Given the description of an element on the screen output the (x, y) to click on. 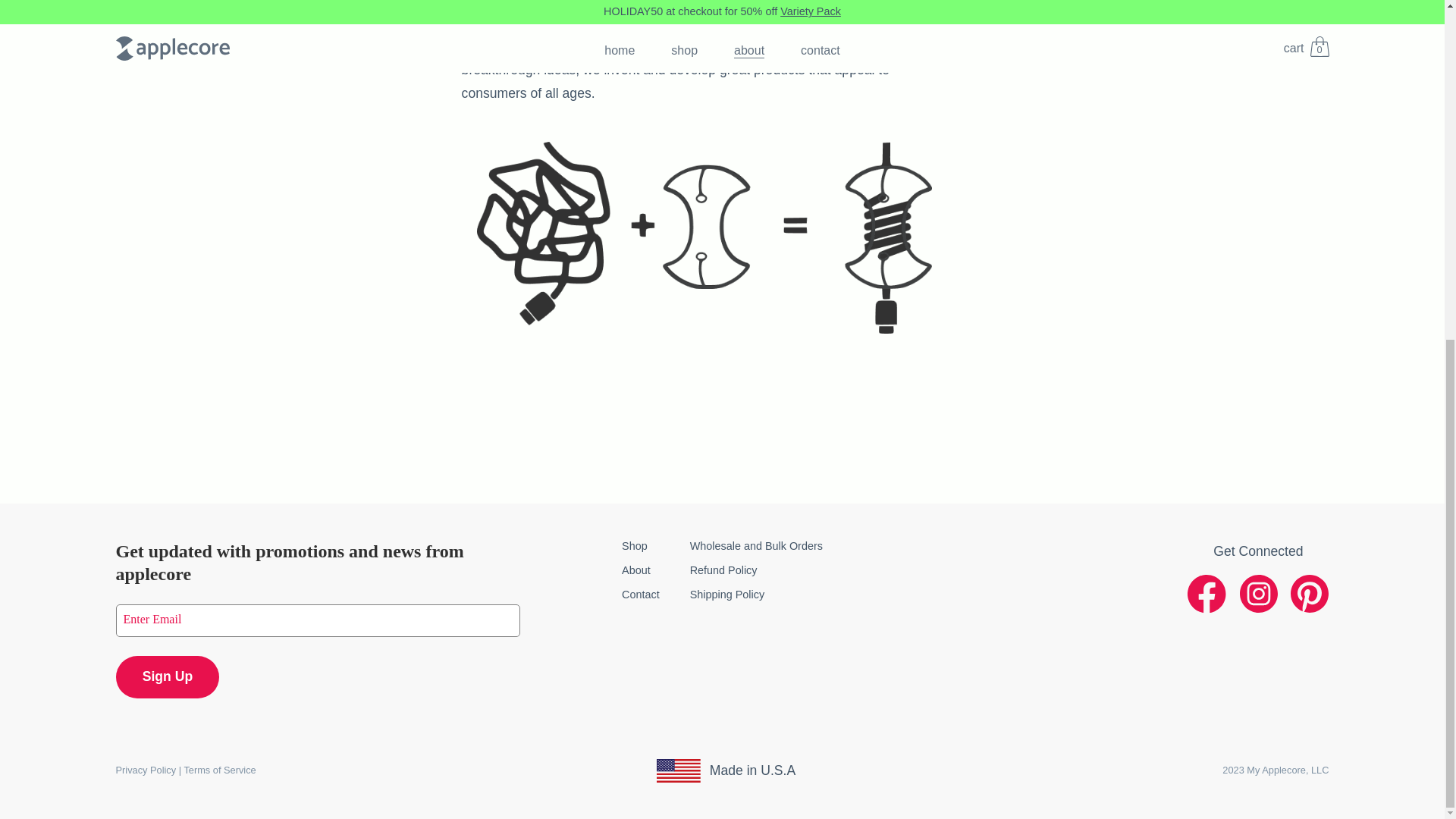
Shop (634, 545)
Contact (640, 594)
About (635, 570)
Privacy Policy (145, 769)
Refund Policy (723, 570)
Shipping Policy (727, 594)
Terms of Service (219, 769)
Sign Up (167, 677)
Wholesale and Bulk Orders (756, 545)
